Given the description of an element on the screen output the (x, y) to click on. 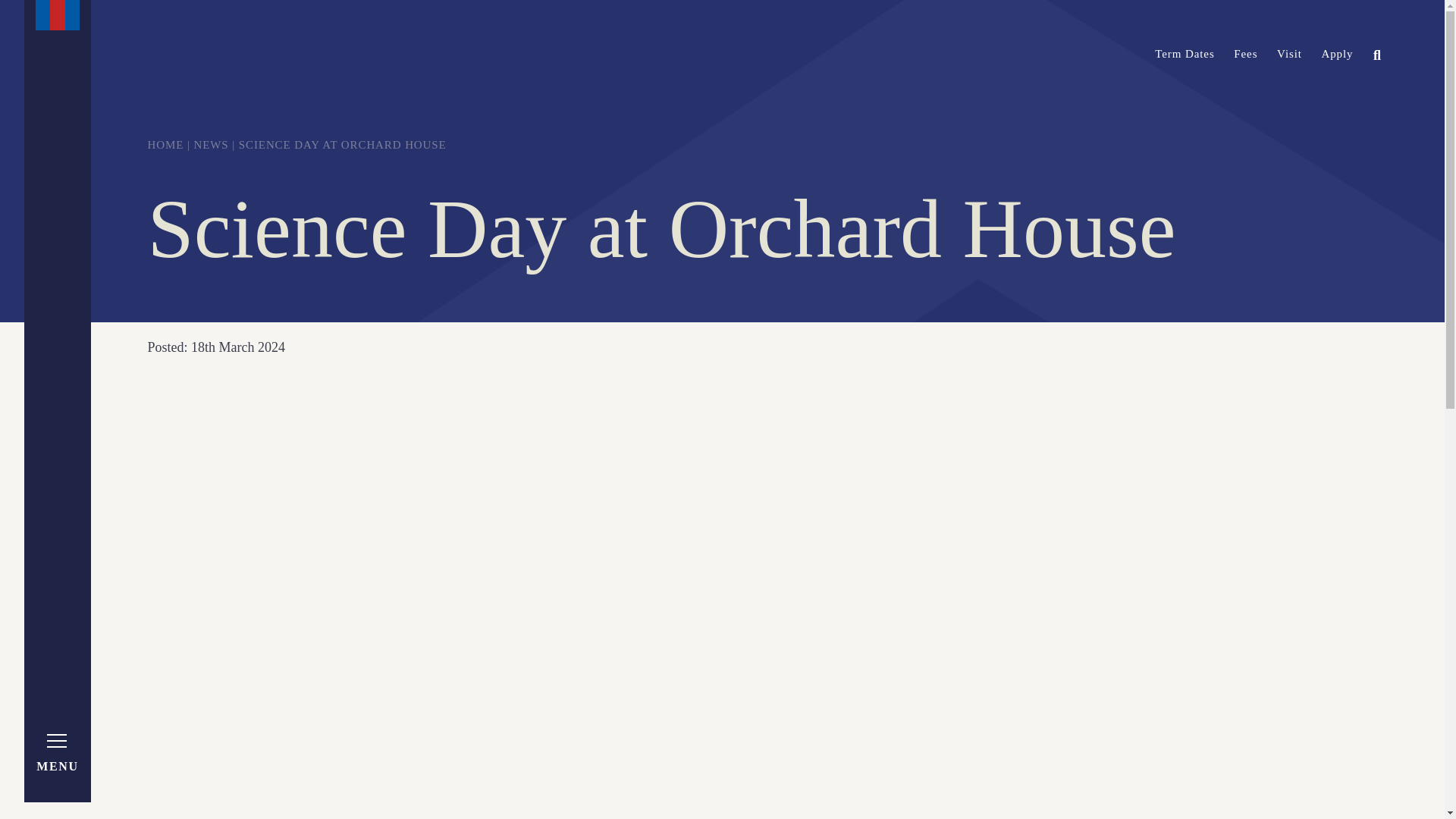
Go to Orchard House School. (165, 144)
Go to News. (210, 144)
Term Dates (1184, 53)
Fees (1245, 53)
Visit (1288, 53)
Apply (1336, 53)
